Given the description of an element on the screen output the (x, y) to click on. 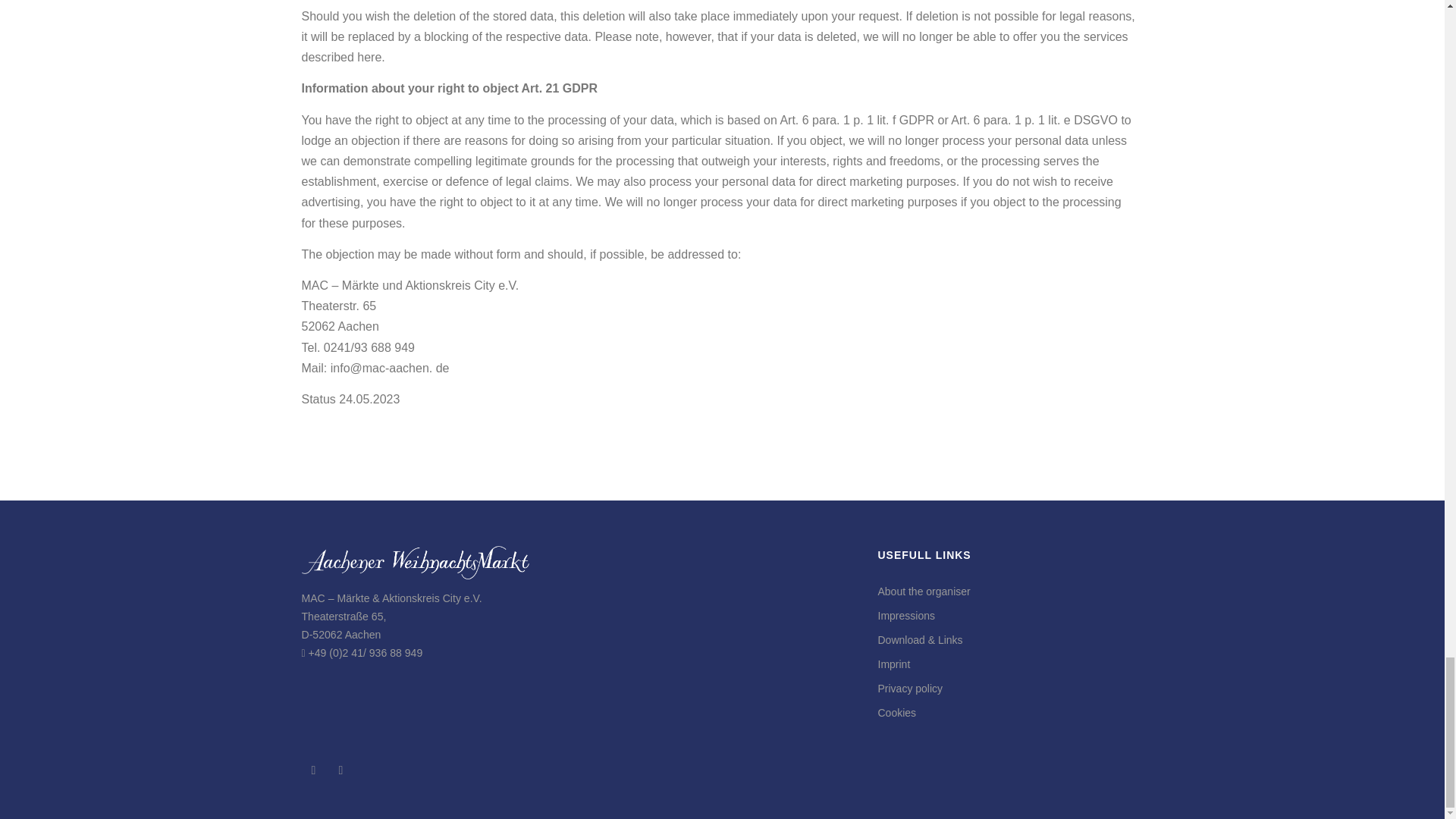
Cookies (897, 712)
About the organiser (924, 591)
Privacy policy (910, 688)
Impressions (905, 615)
Imprint (894, 664)
